Given the description of an element on the screen output the (x, y) to click on. 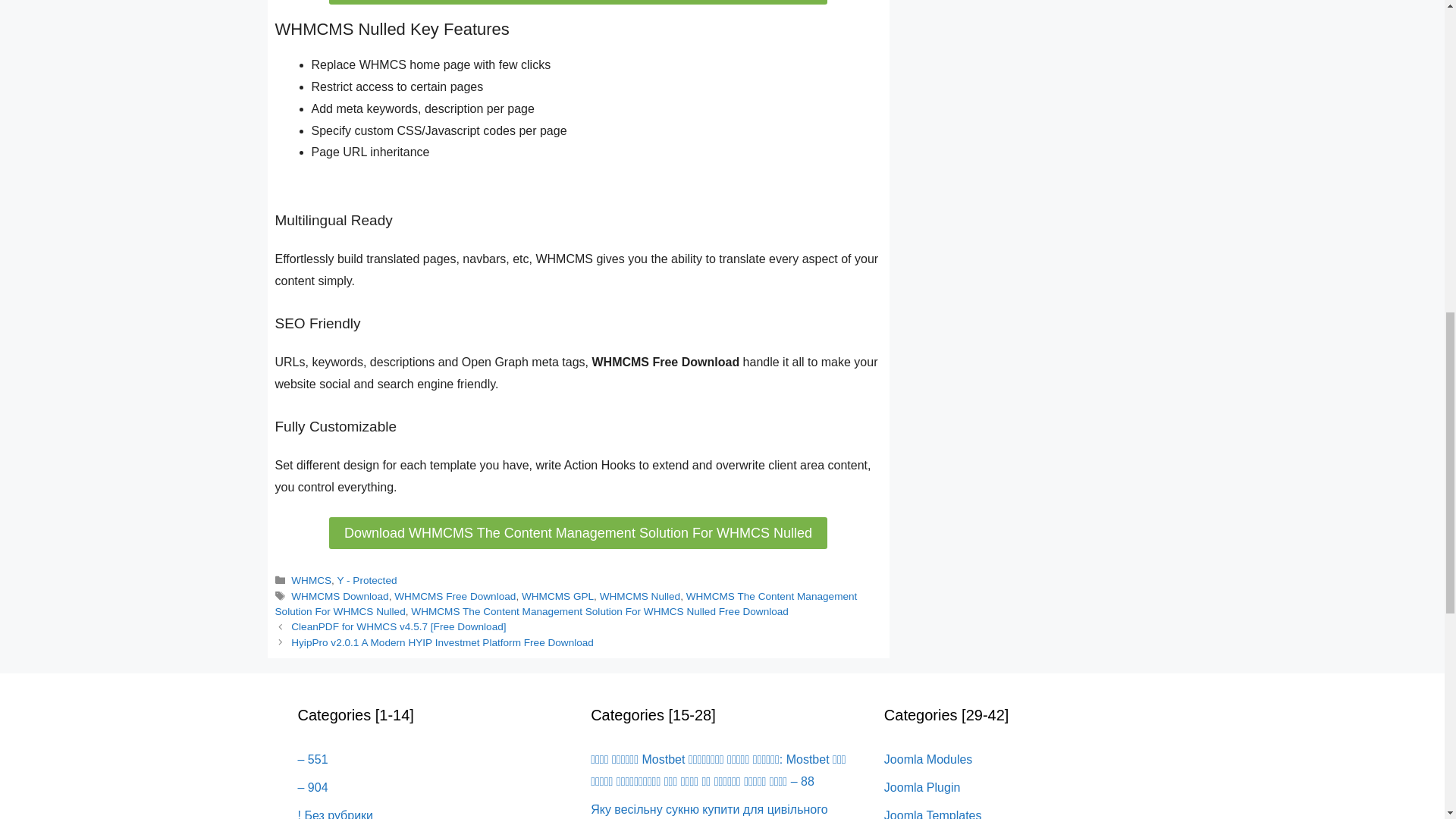
WHMCS (311, 580)
WHMCMS The Content Management Solution For WHMCS Nulled (566, 603)
WHMCMS Download (339, 595)
WHMCMS Free Download (454, 595)
Y - Protected (366, 580)
WHMCMS Nulled (640, 595)
WHMCMS GPL (557, 595)
